Given the description of an element on the screen output the (x, y) to click on. 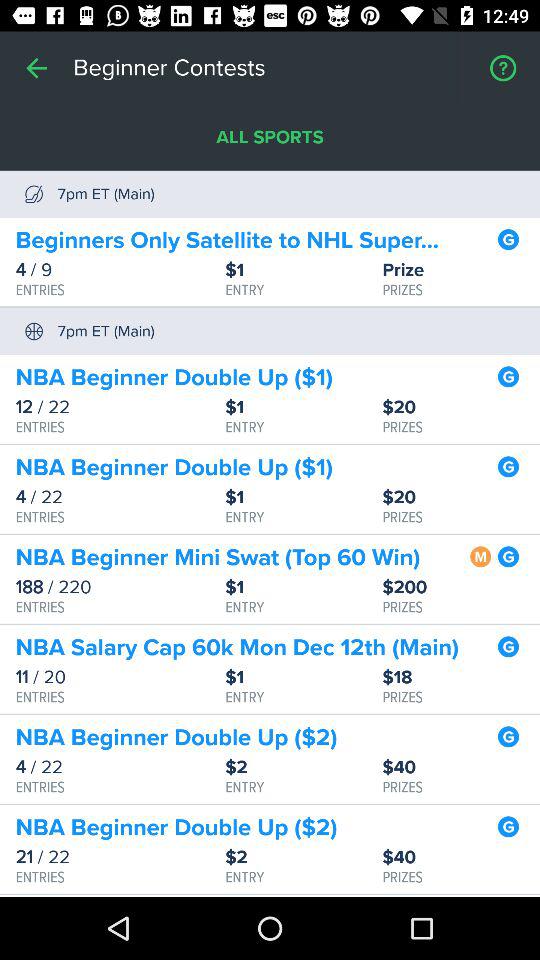
open icon above 4 / 9 item (237, 240)
